Given the description of an element on the screen output the (x, y) to click on. 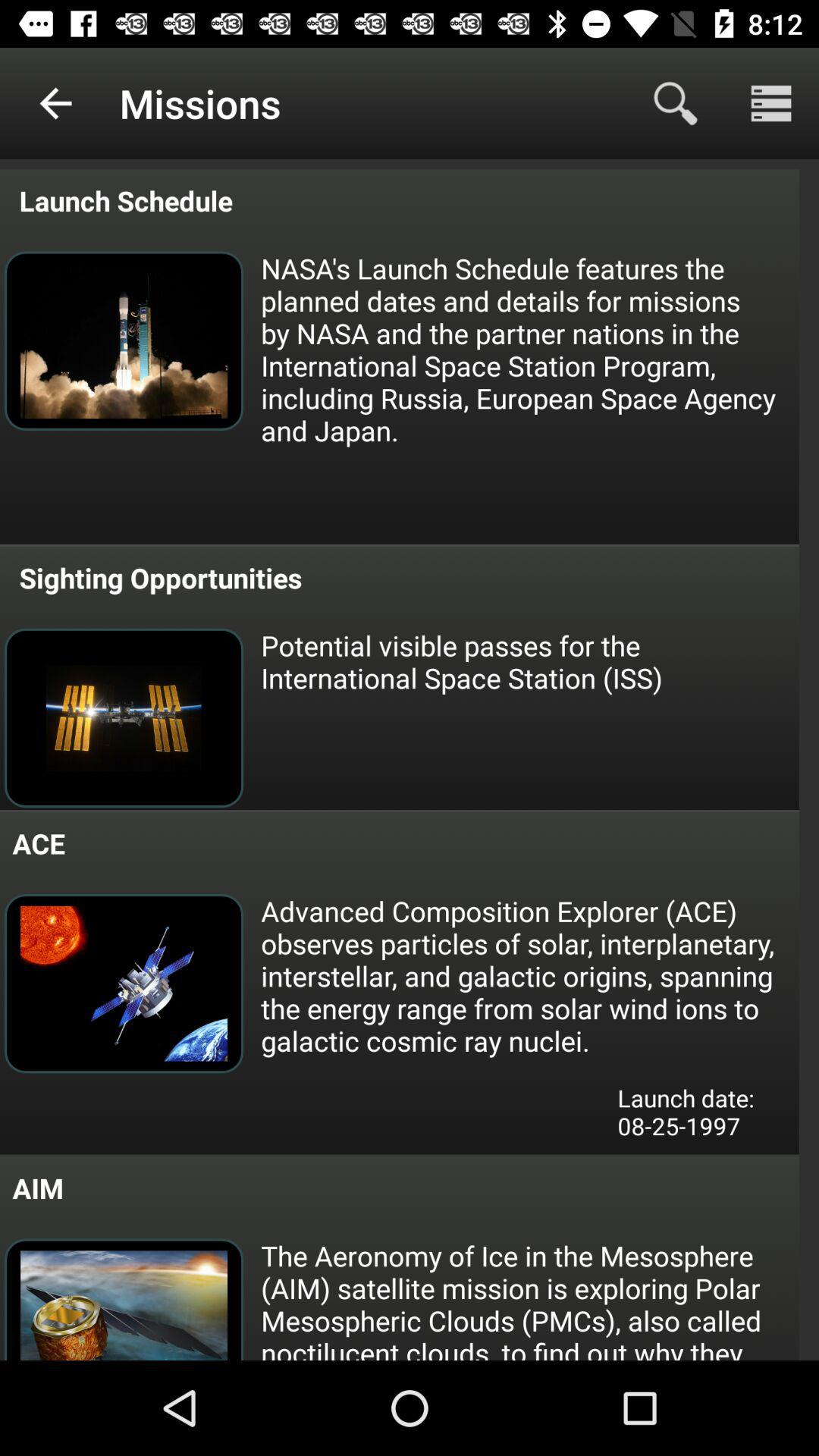
launch the item next to missions icon (55, 103)
